Given the description of an element on the screen output the (x, y) to click on. 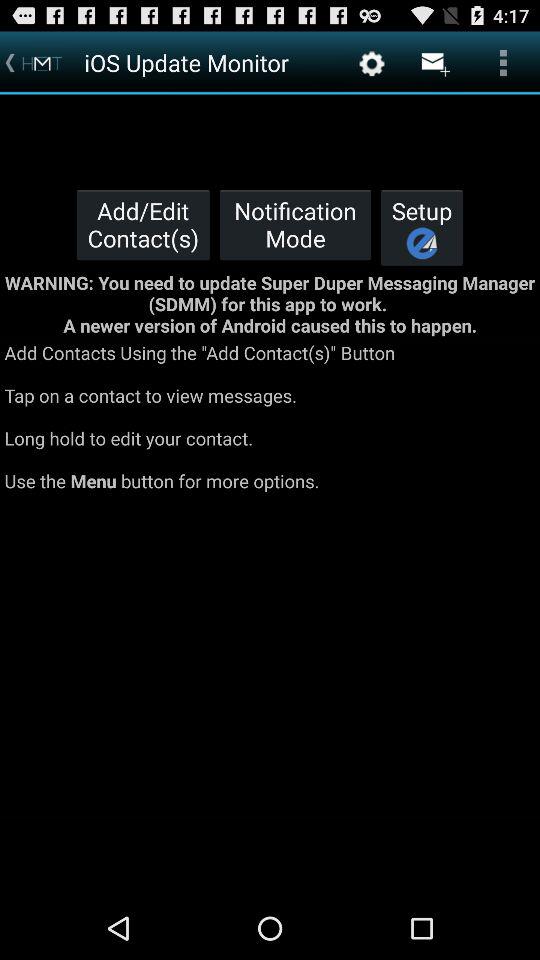
press item to the left of the setup icon (295, 224)
